Given the description of an element on the screen output the (x, y) to click on. 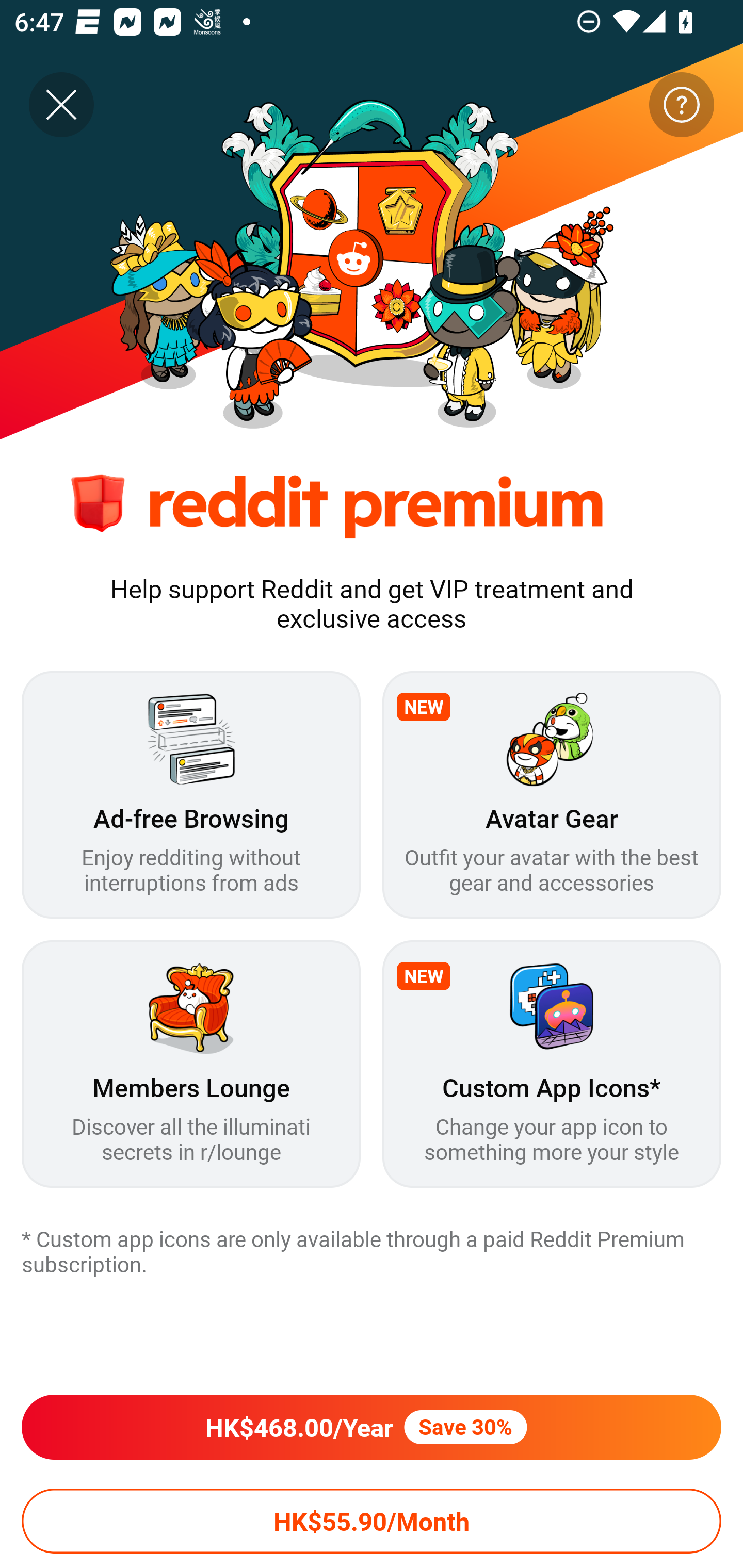
Close (60, 104)
Learn more (681, 104)
HK$468.00/YearSave 30% (371, 1426)
HK$55.90/Month (371, 1520)
